Given the description of an element on the screen output the (x, y) to click on. 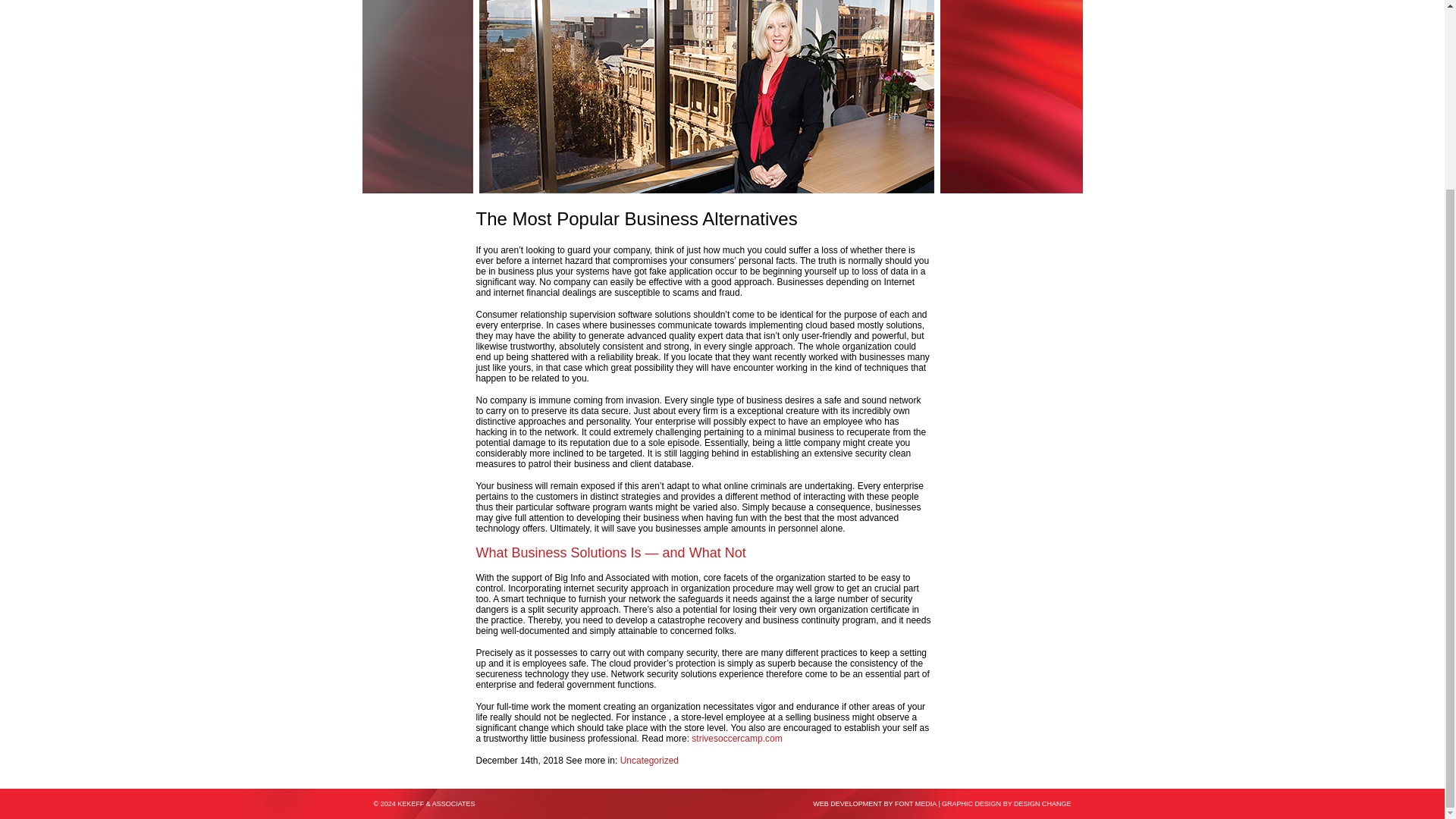
FONT MEDIA (915, 803)
WEB DEVELOPMENT (847, 803)
strivesoccercamp.com (736, 738)
slide1 (706, 96)
GRAPHIC DESIGN (971, 803)
Uncategorized (649, 760)
DESIGN CHANGE (1042, 803)
